Given the description of an element on the screen output the (x, y) to click on. 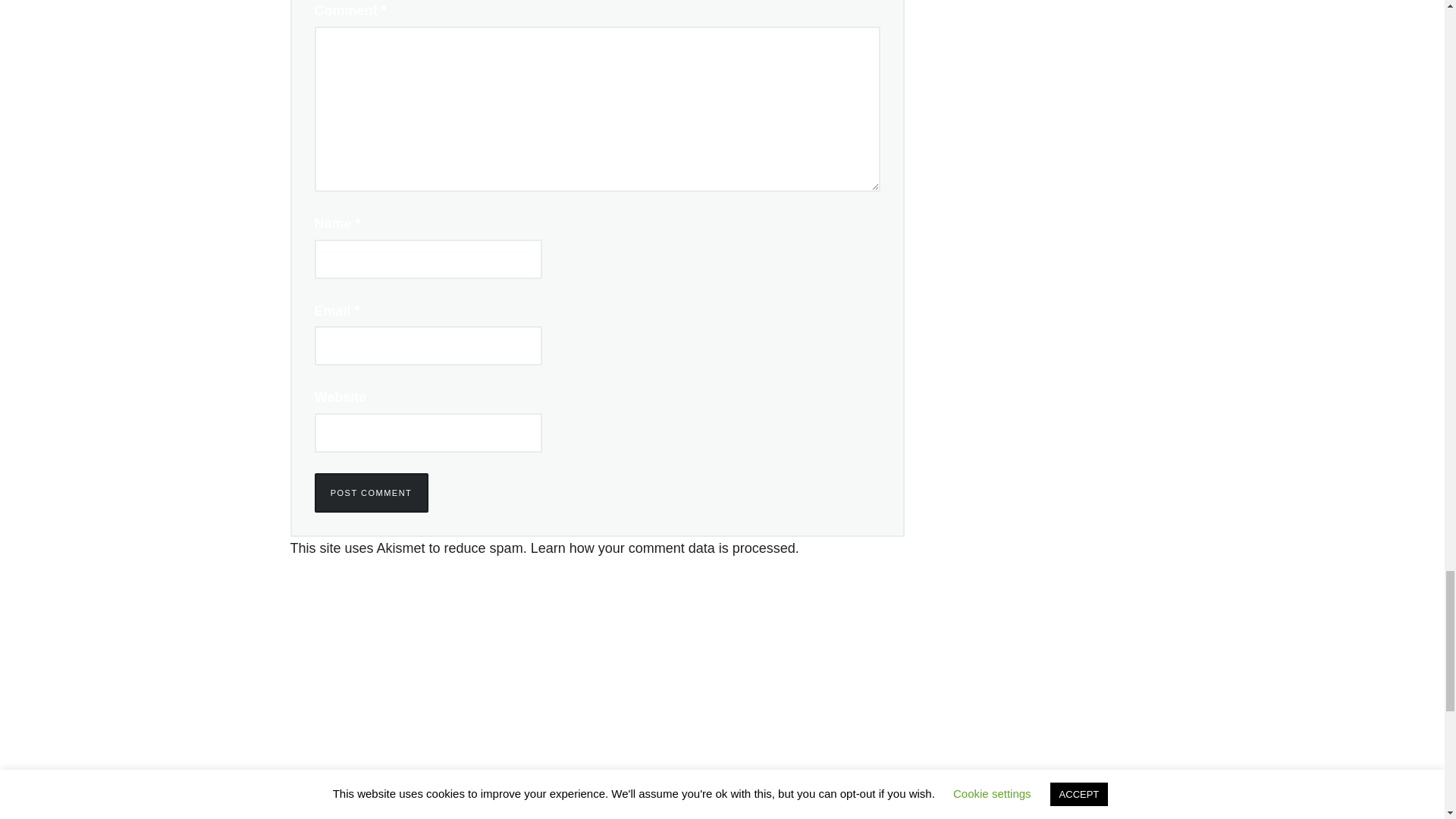
Post Comment (371, 492)
